Given the description of an element on the screen output the (x, y) to click on. 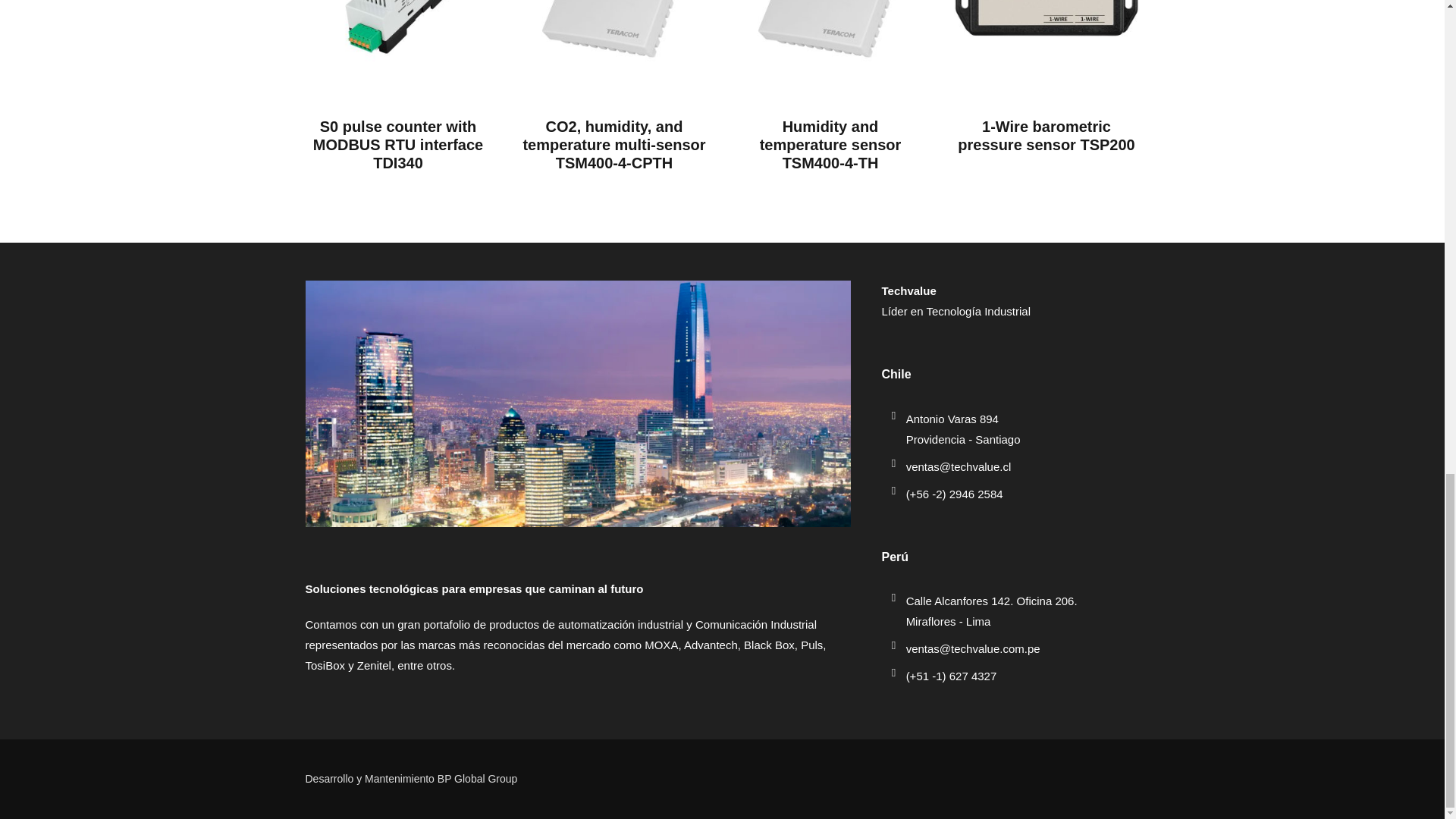
1-wire-temperature-and-humidity-sensor-tsm400-1-th-gal-1-w (614, 44)
1-wire-temperature-and-humidity-sensor-tsm400-1-th-gal-1-w (829, 44)
s0-pulse-counter-tdi340-gal-1 (397, 44)
1-wire-barometric-pressure-sensor-tsp200-gal-2 (1046, 44)
